Given the description of an element on the screen output the (x, y) to click on. 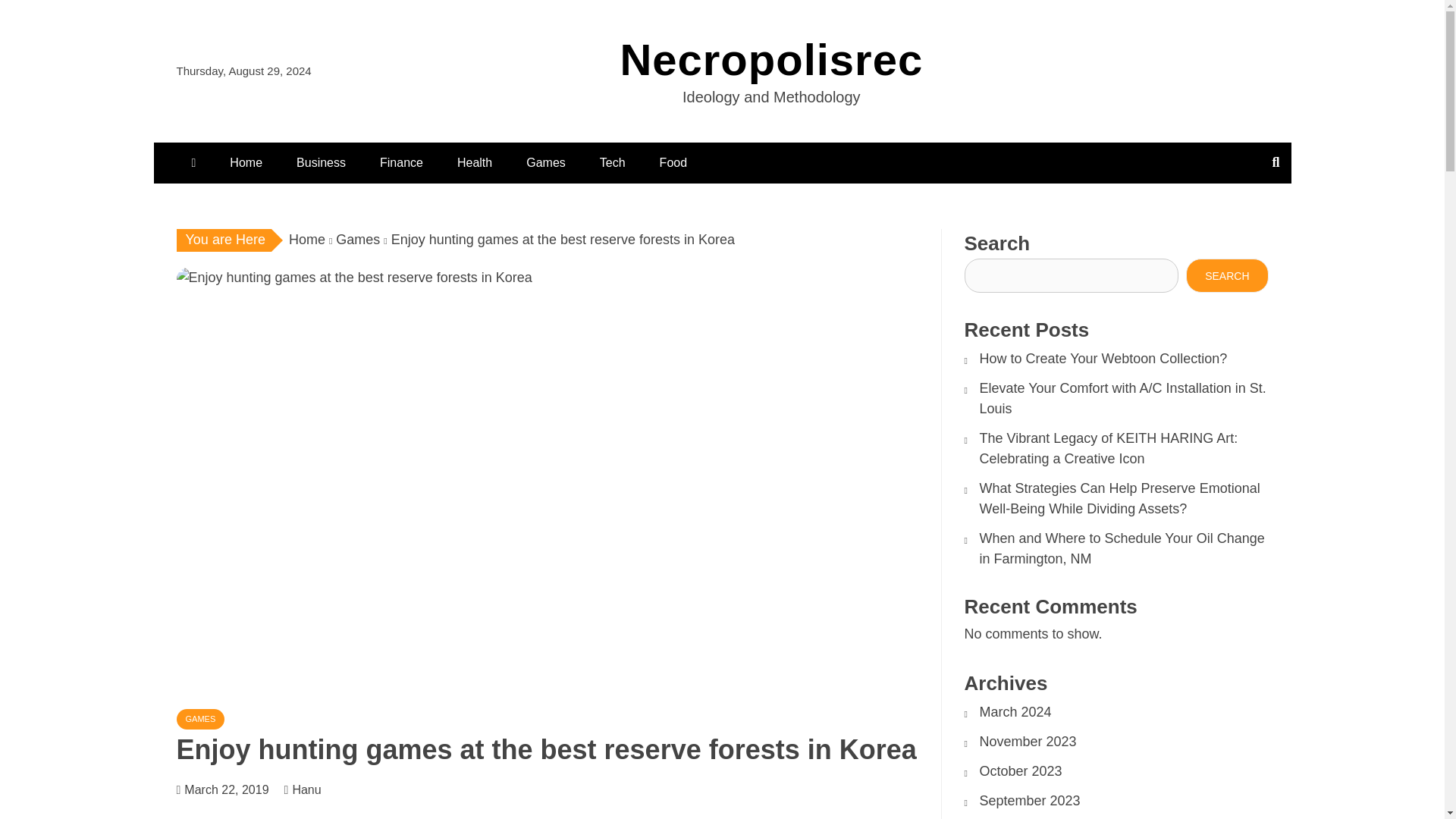
Hanu (314, 789)
Finance (401, 162)
Health (474, 162)
Home (306, 239)
Tech (612, 162)
Games (358, 239)
GAMES (200, 719)
Necropolisrec (771, 59)
